Given the description of an element on the screen output the (x, y) to click on. 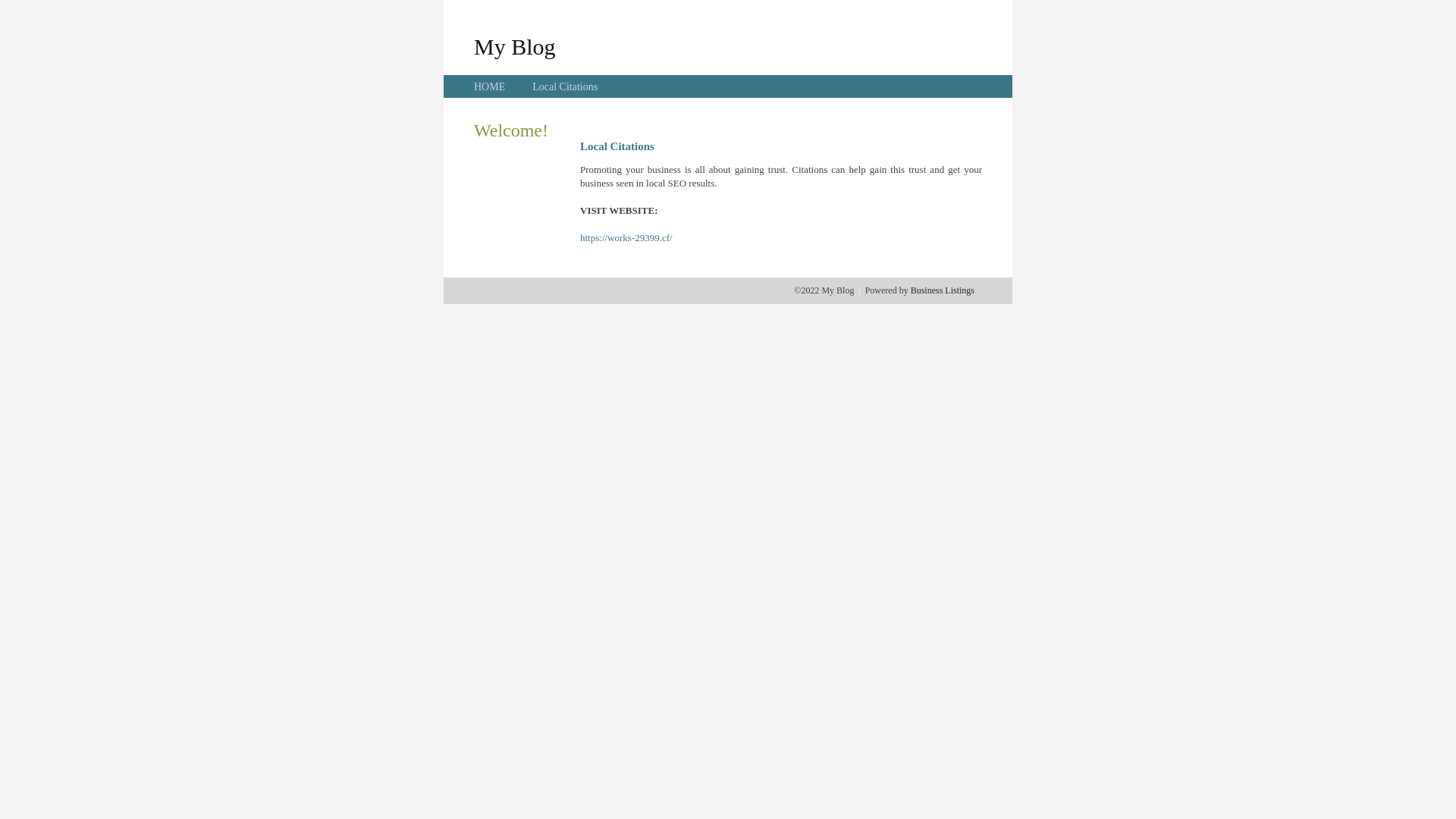
Local Citations Element type: text (564, 86)
HOME Element type: text (489, 86)
Business Listings Element type: text (942, 290)
My Blog Element type: text (514, 46)
https://works-29399.cf/ Element type: text (626, 237)
